Given the description of an element on the screen output the (x, y) to click on. 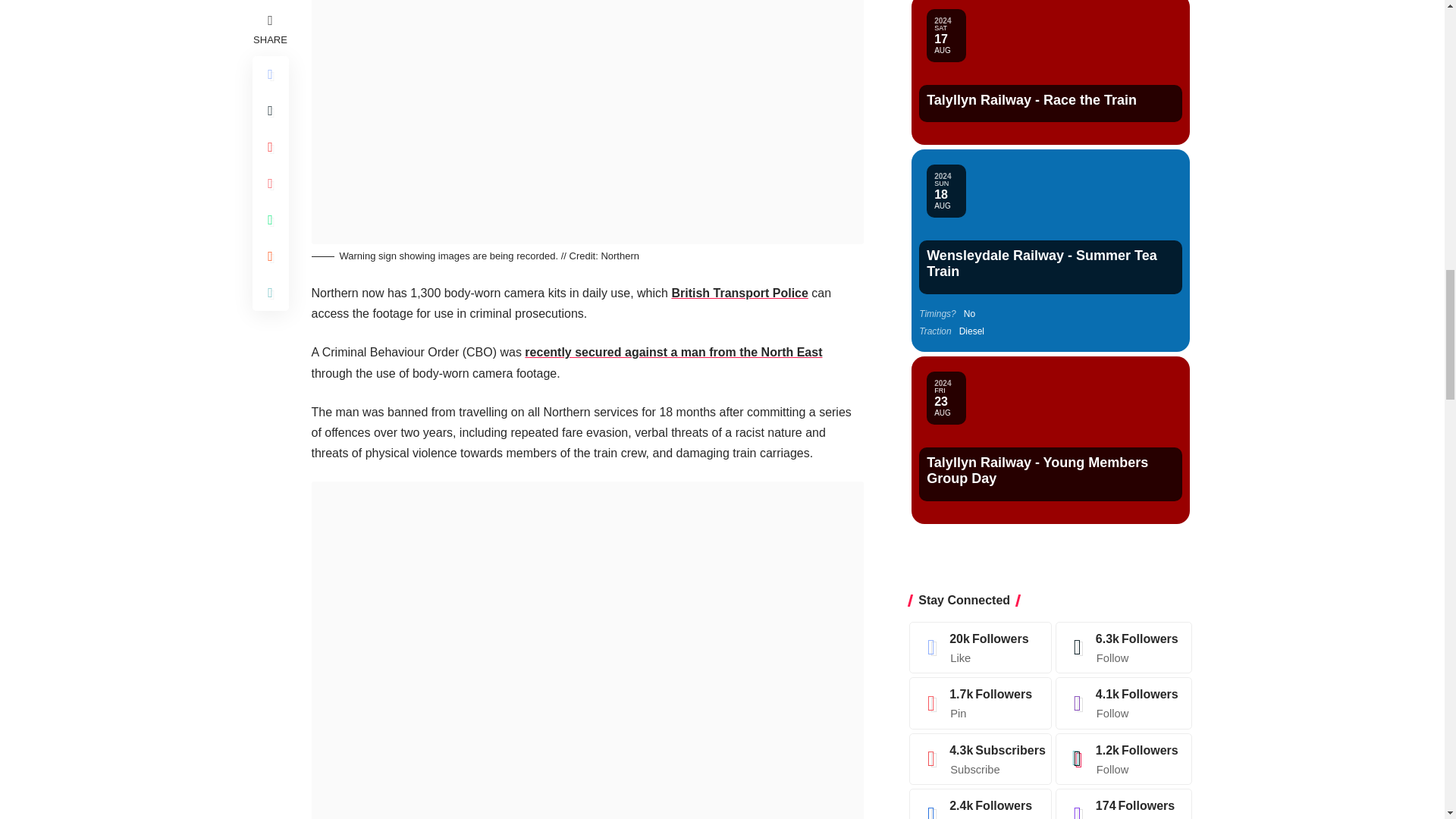
Posts tagged with British Transport Police (739, 292)
